Given the description of an element on the screen output the (x, y) to click on. 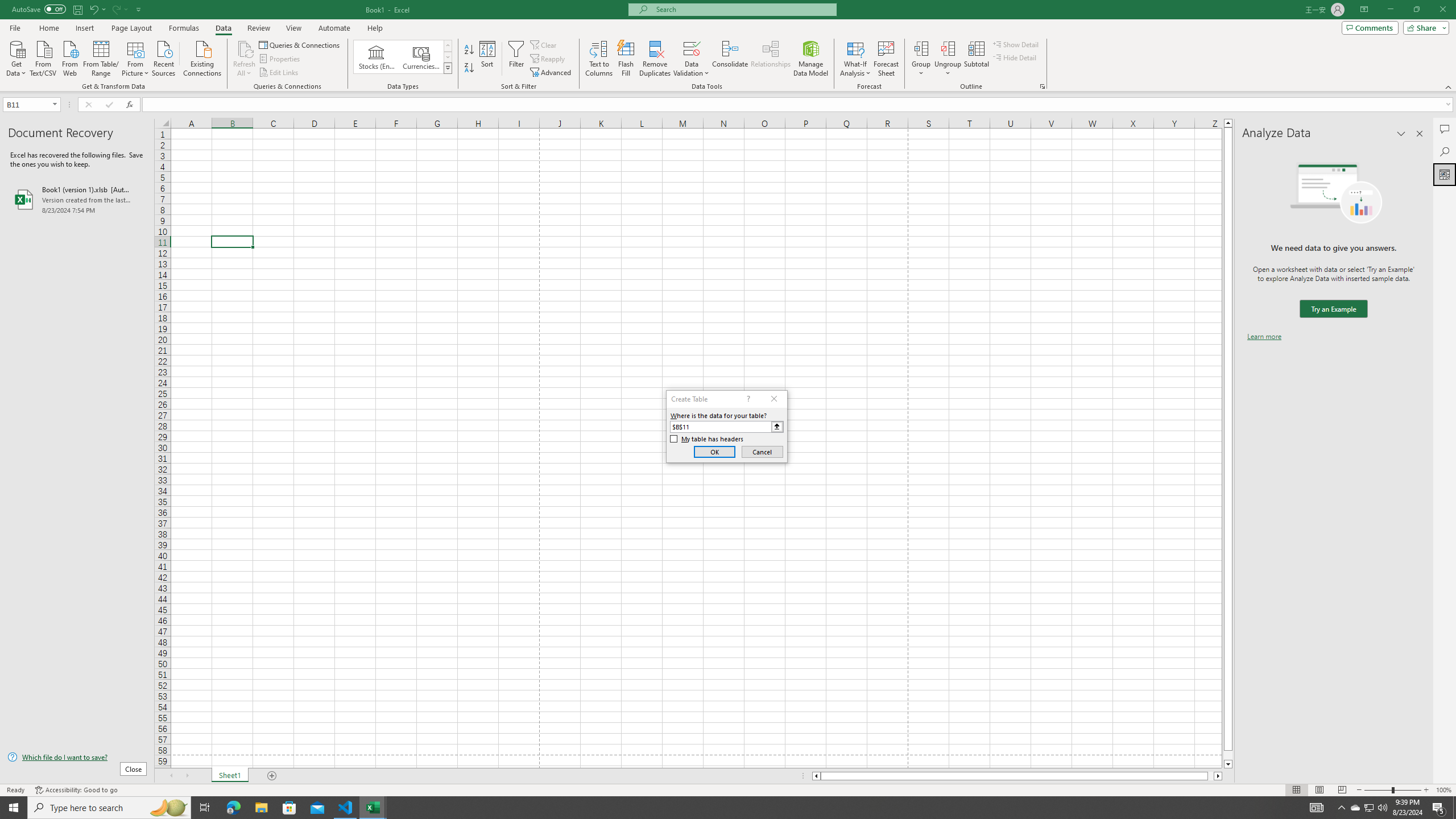
Queries & Connections (300, 44)
From Web (69, 57)
Sort A to Z (469, 49)
We need data to give you answers. Try an Example (1333, 308)
AutomationID: ConvertToLinkedEntity (403, 56)
From Table/Range (100, 57)
Row Down (448, 56)
